Given the description of an element on the screen output the (x, y) to click on. 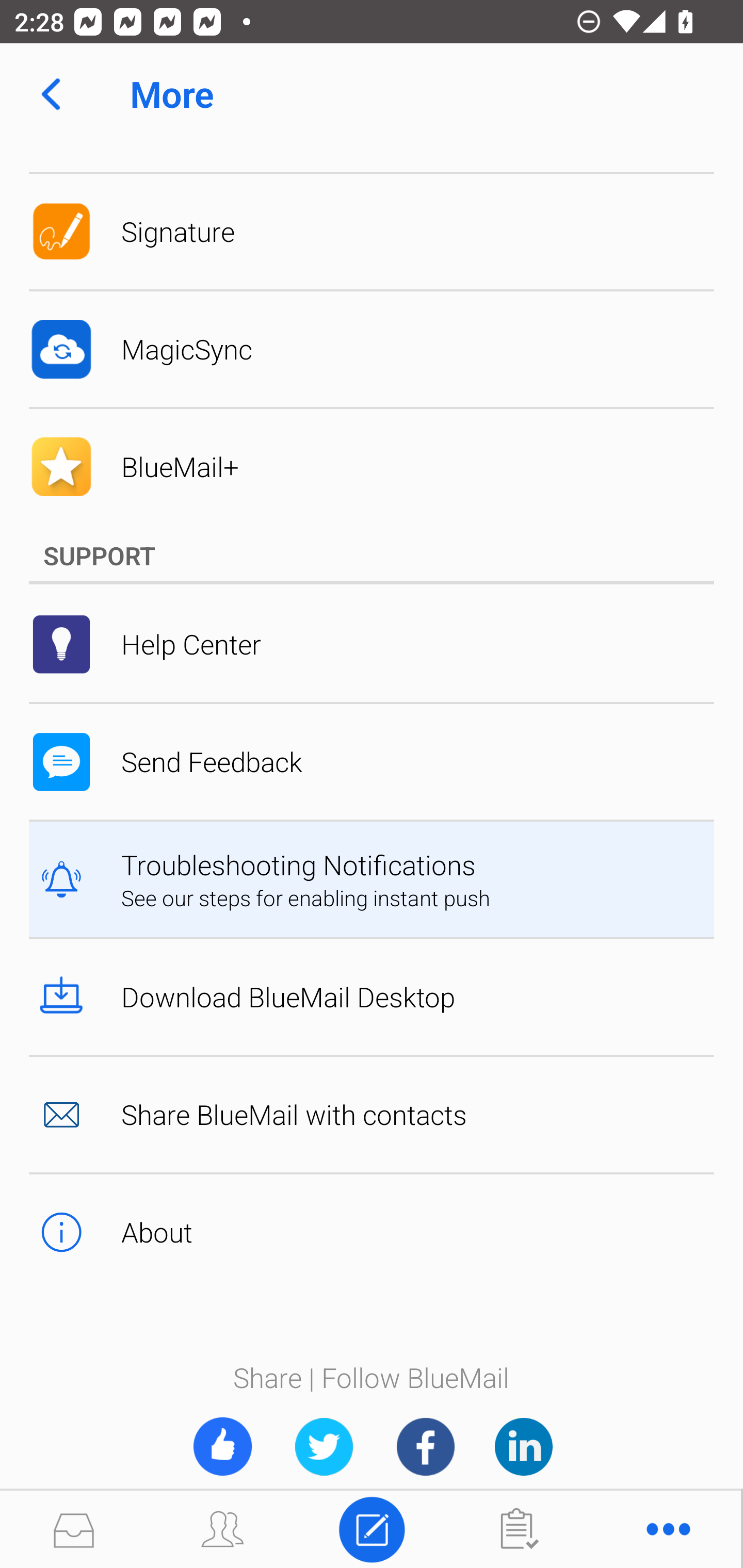
Navigate up (50, 93)
Signature (371, 232)
MagicSync (371, 349)
BlueMail+ (371, 467)
Help Center (371, 644)
Send Feedback (371, 762)
Download BlueMail Desktop (371, 997)
Share BlueMail with contacts (371, 1114)
About (371, 1232)
Invite Friends (222, 1446)
Follow us on Twitter (323, 1446)
Follow us on Facebook (425, 1446)
Follow us on Google plus (523, 1446)
